Given the description of an element on the screen output the (x, y) to click on. 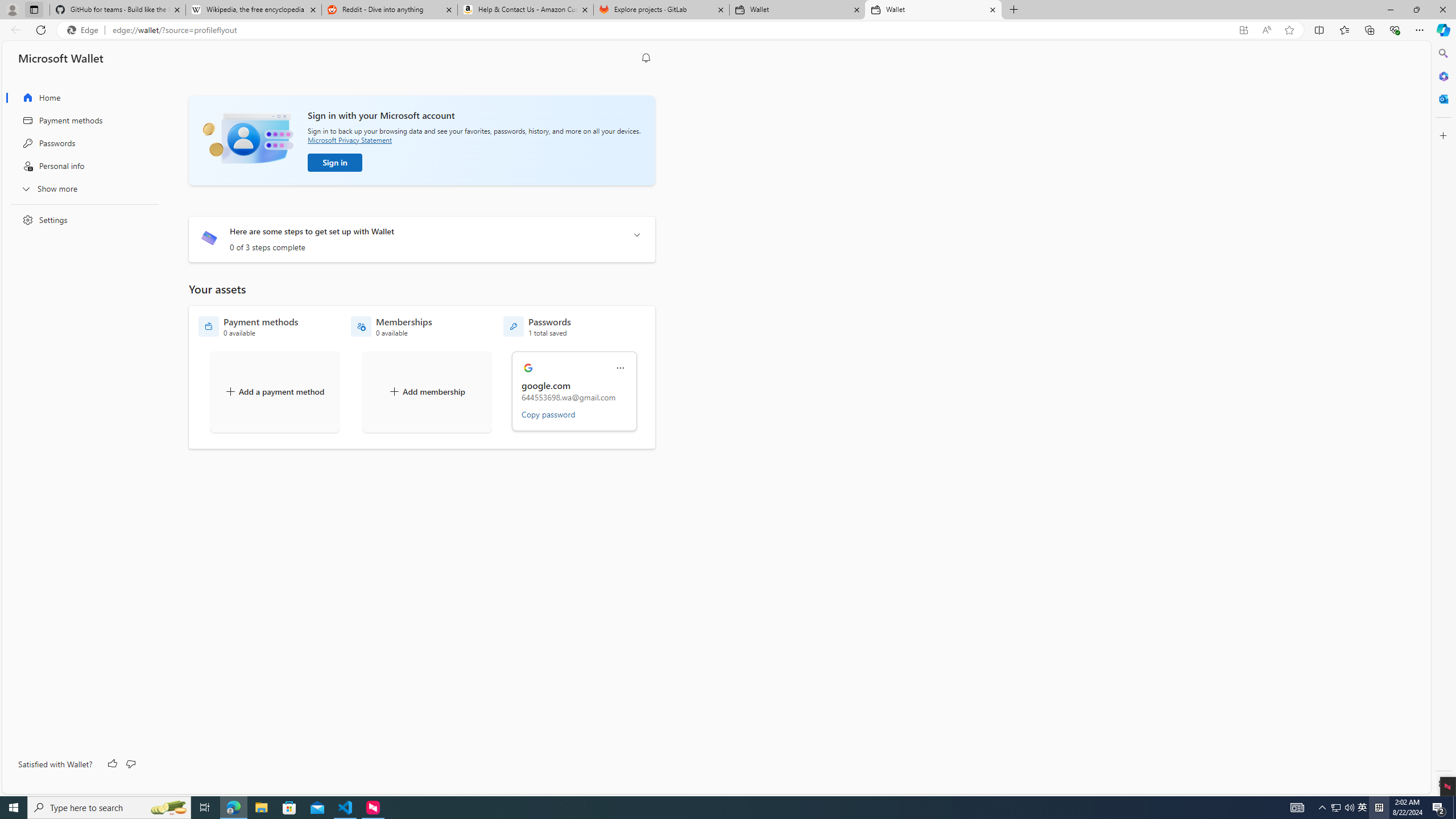
Notification (646, 58)
Payment methods (81, 120)
Microsoft Privacy Statement (349, 139)
